Given the description of an element on the screen output the (x, y) to click on. 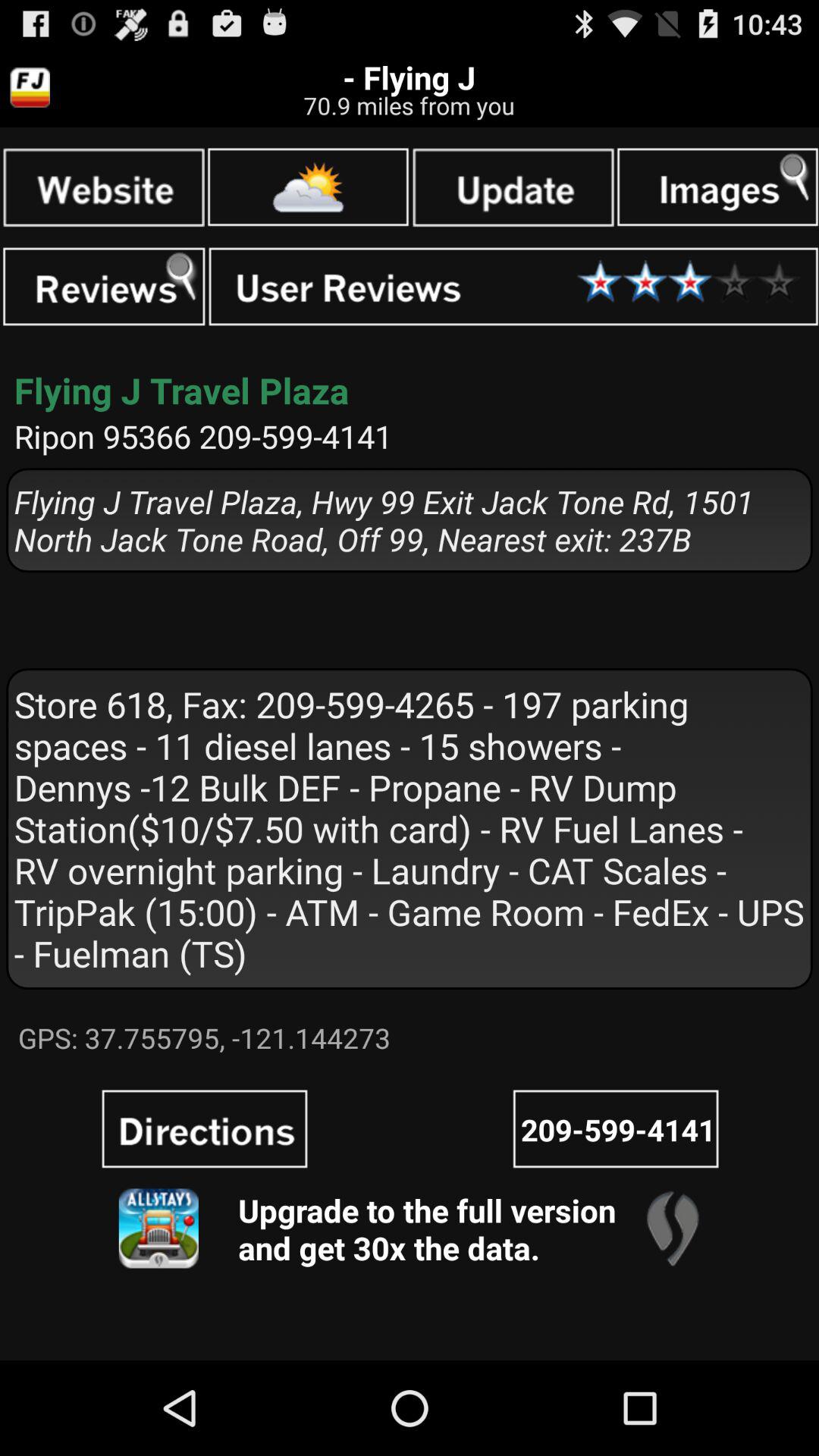
search reviews (103, 286)
